Given the description of an element on the screen output the (x, y) to click on. 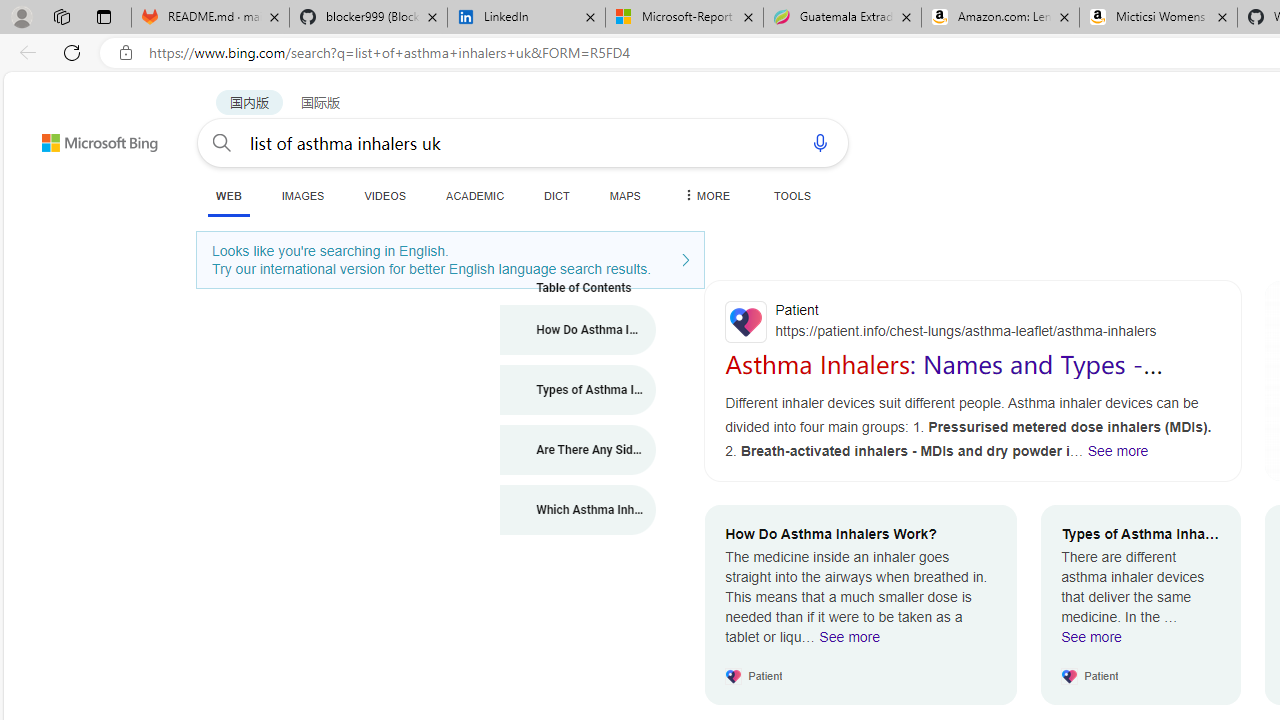
Which Asthma Inhaler Device Should I use? (578, 509)
Skip to content (63, 133)
WEB (228, 196)
Are There Any Side-Effects from Asthma Inhalers? (578, 449)
How Do Asthma Inhalers Work? (578, 329)
WEB (228, 195)
DICT (557, 195)
Search using voice (820, 142)
MAPS (624, 195)
Dropdown Menu (705, 195)
